Given the description of an element on the screen output the (x, y) to click on. 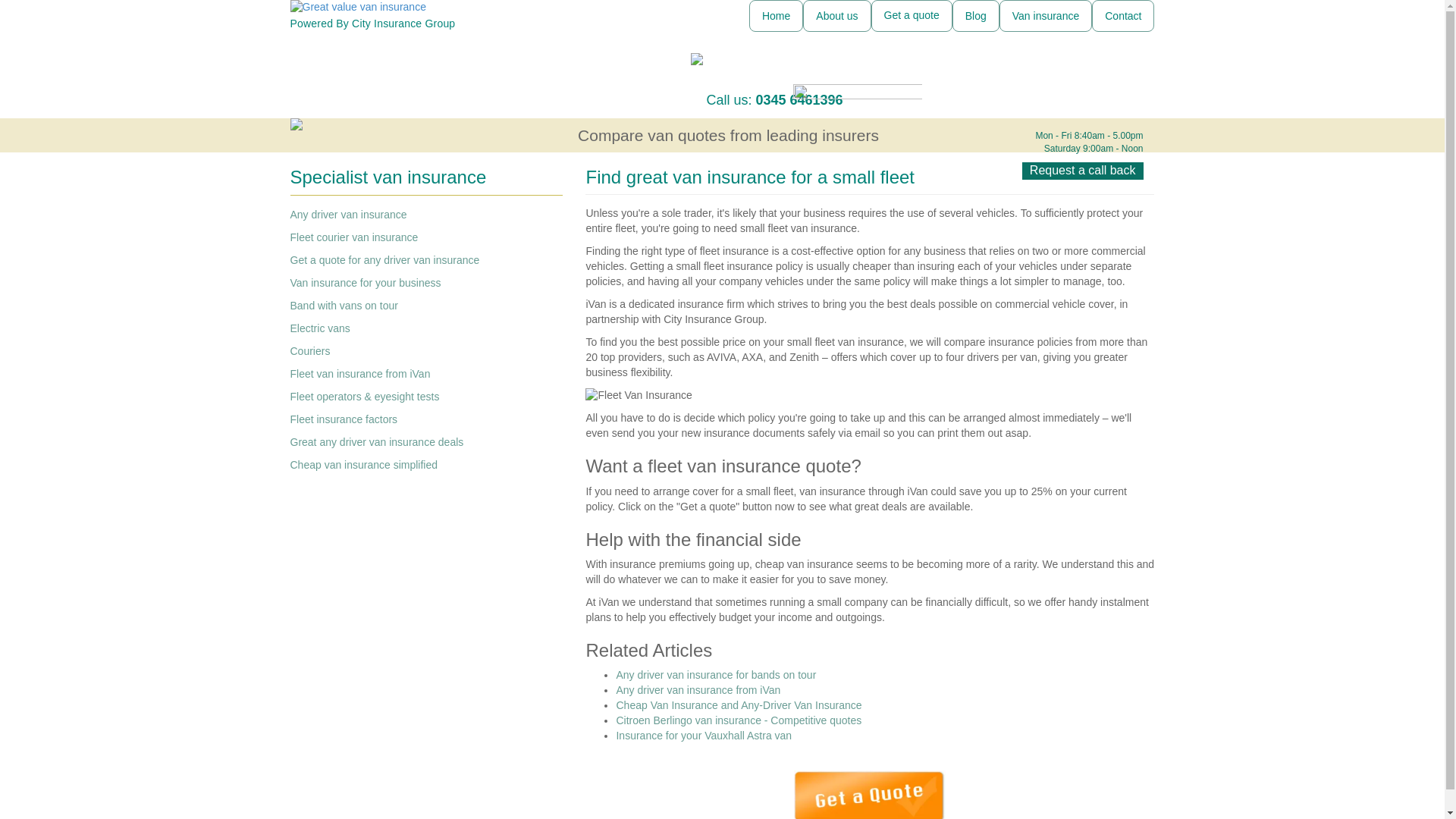
Contact (1123, 15)
Blog (975, 15)
Van insurance (1045, 15)
Home (776, 15)
Powered By City Insurance Group (425, 14)
About us (836, 15)
